Given the description of an element on the screen output the (x, y) to click on. 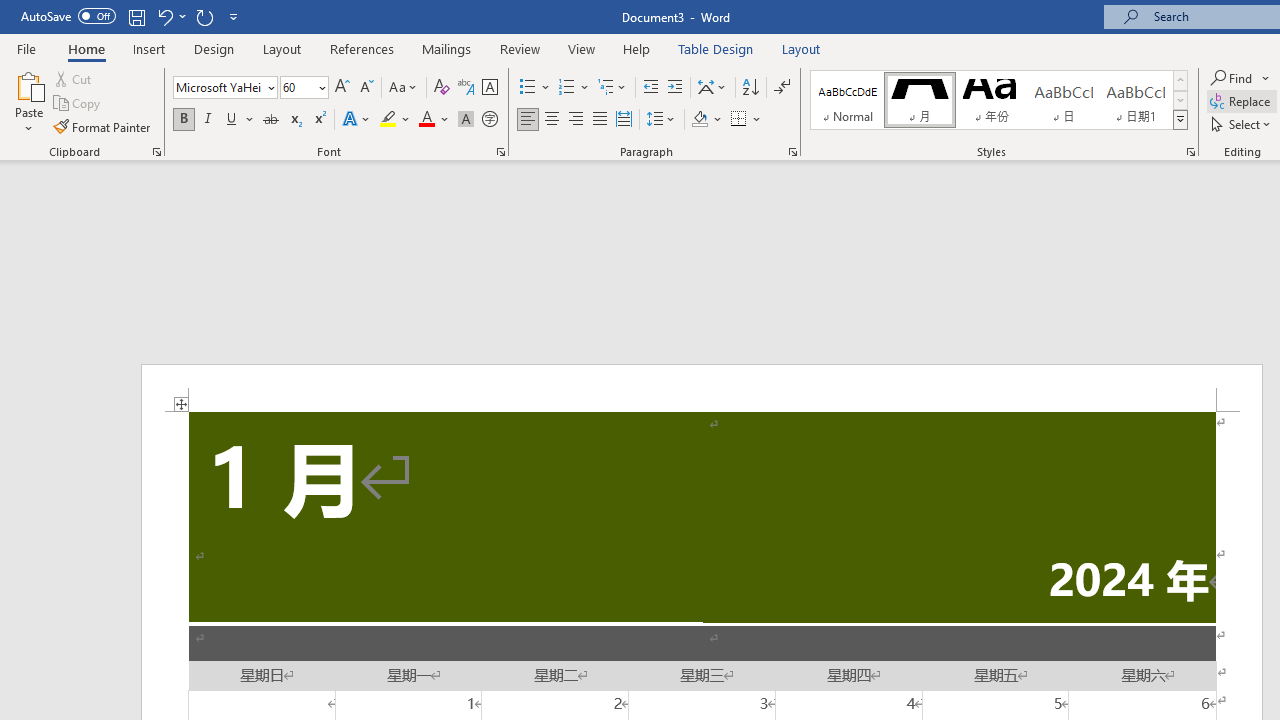
Office Clipboard... (156, 151)
File Tab (26, 48)
Mailings (447, 48)
Strikethrough (270, 119)
Grow Font (342, 87)
Character Border (489, 87)
Superscript (319, 119)
Center (552, 119)
Shading (706, 119)
Find (1240, 78)
Paste (28, 102)
Change Case (404, 87)
Customize Quick Access Toolbar (234, 15)
Replace... (1242, 101)
Undo Apply Quick Style (170, 15)
